Given the description of an element on the screen output the (x, y) to click on. 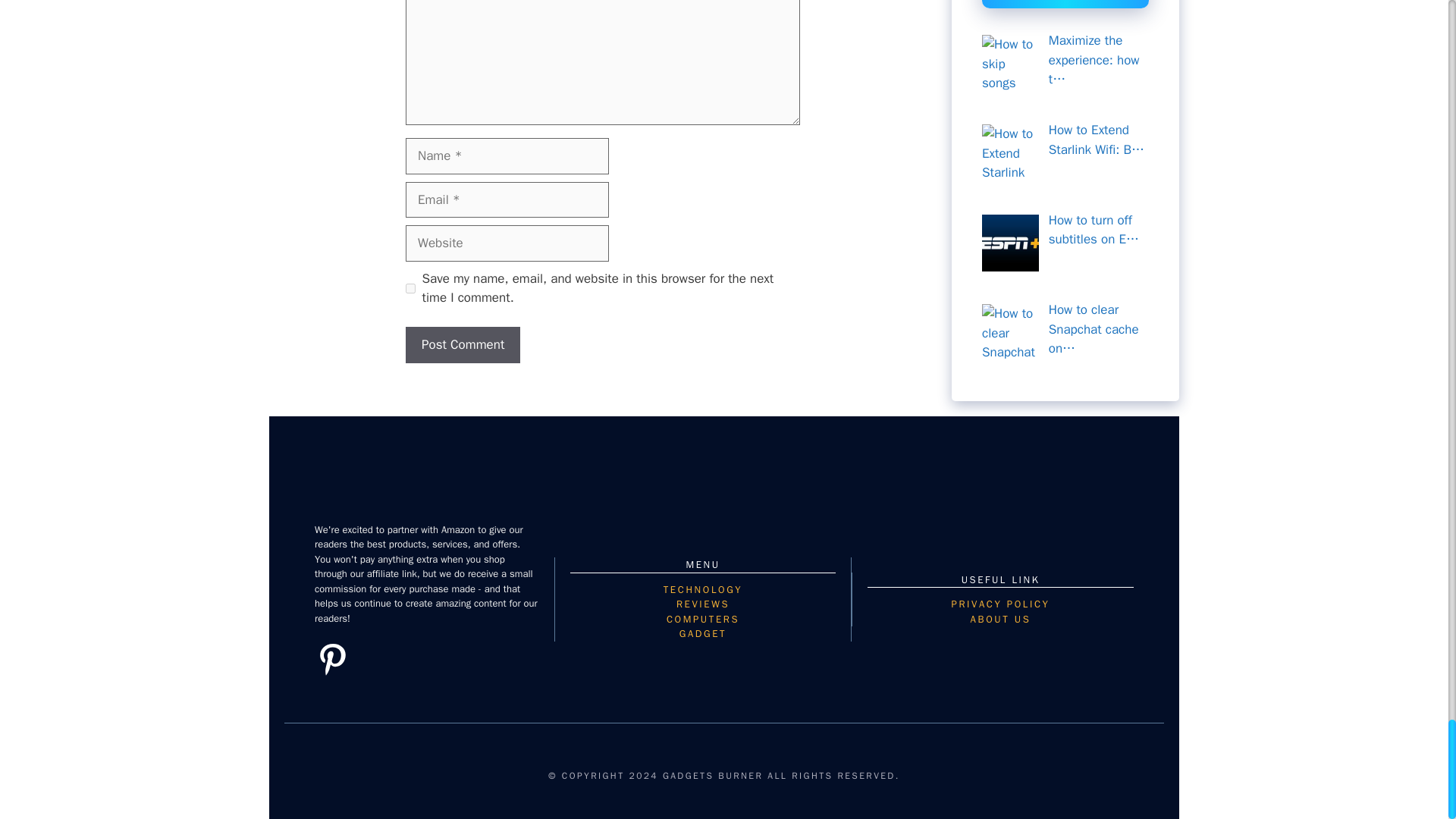
yes (410, 288)
Post Comment (462, 344)
